Given the description of an element on the screen output the (x, y) to click on. 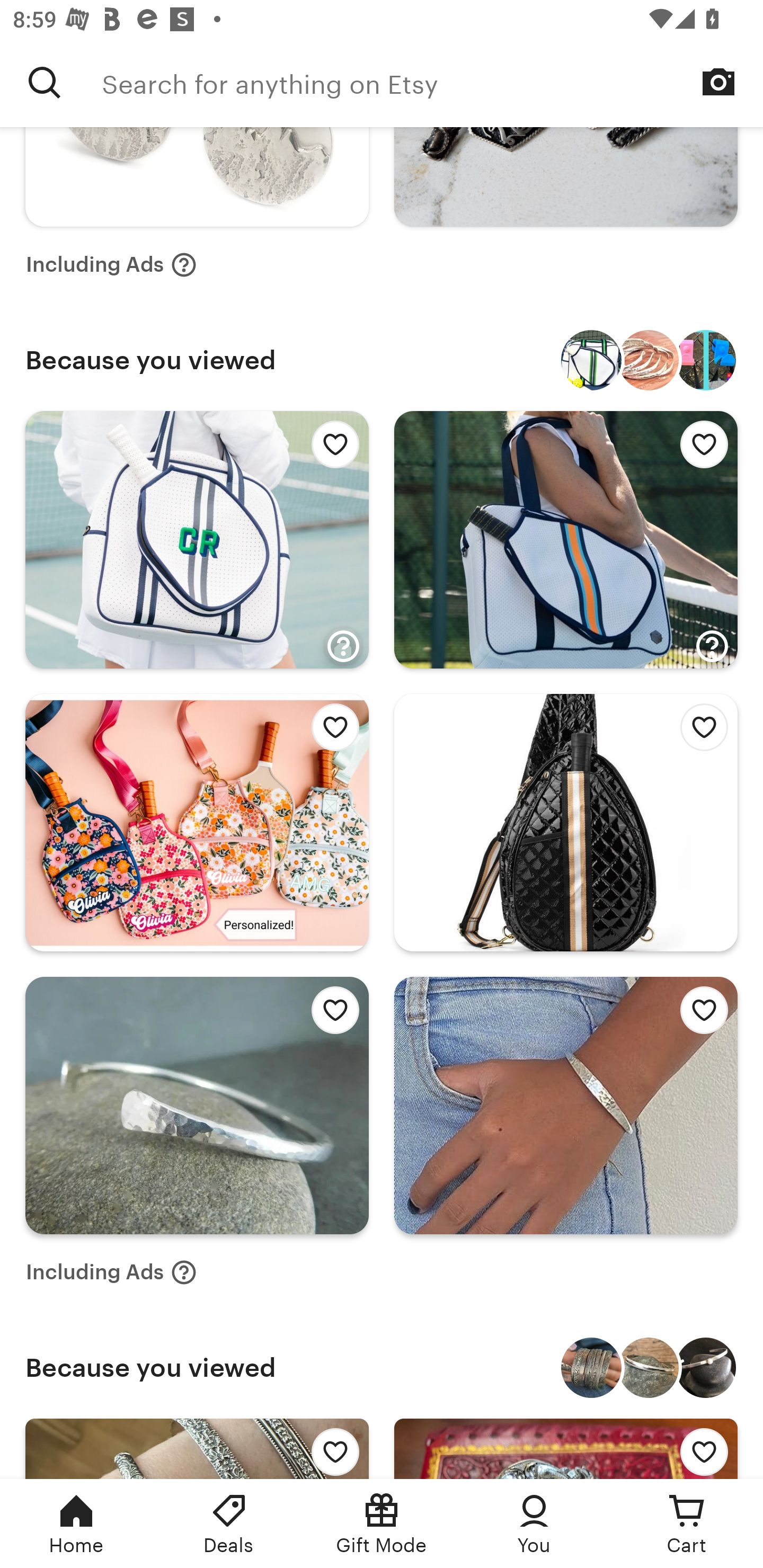
Search for anything on Etsy (44, 82)
Search by image (718, 81)
Search for anything on Etsy (432, 82)
Including Ads (111, 264)
Including Ads (111, 1272)
Deals (228, 1523)
Gift Mode (381, 1523)
You (533, 1523)
Cart (686, 1523)
